Given the description of an element on the screen output the (x, y) to click on. 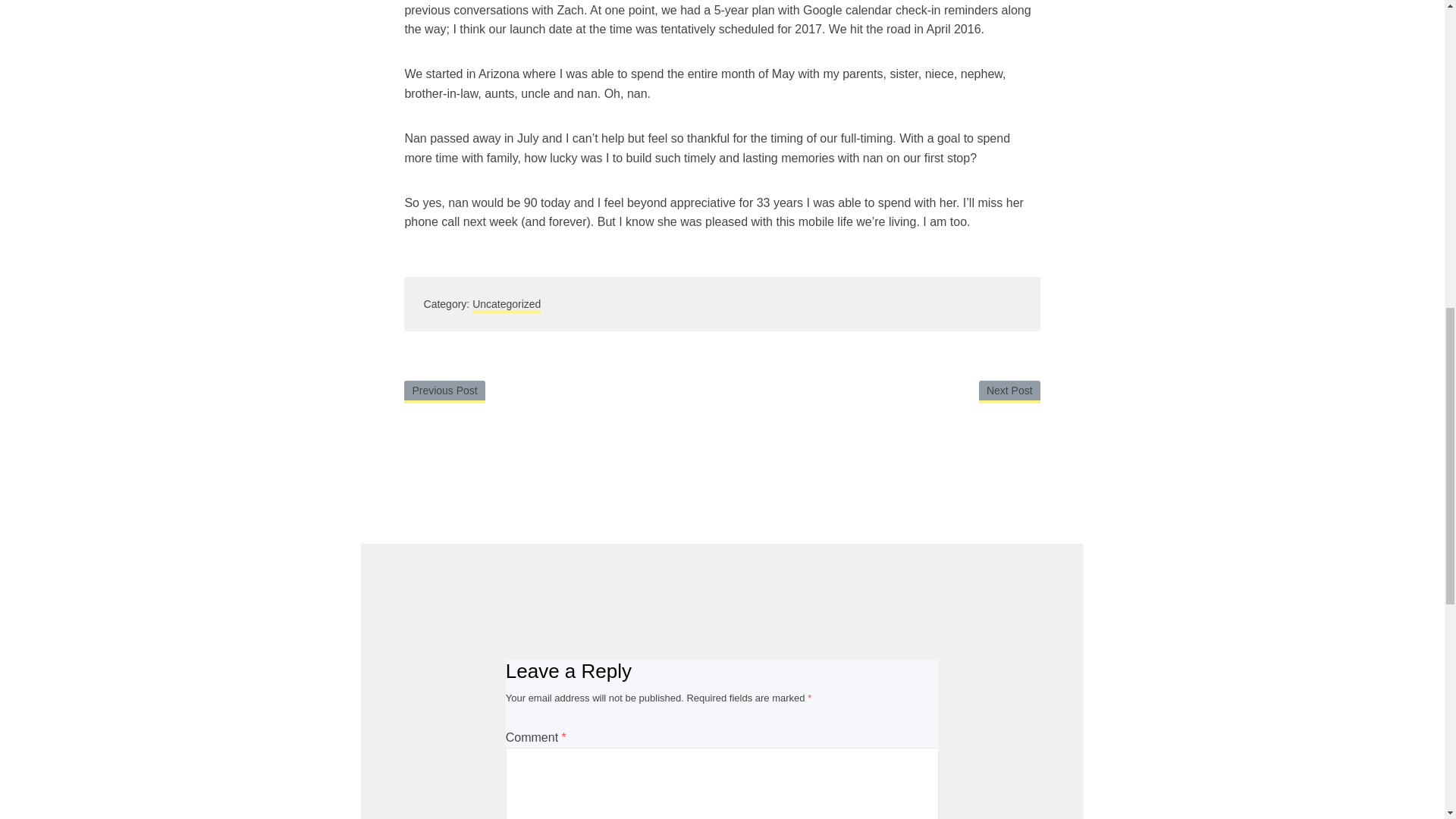
Uncategorized (505, 305)
Next Post (1009, 391)
Previous Post (444, 391)
